Given the description of an element on the screen output the (x, y) to click on. 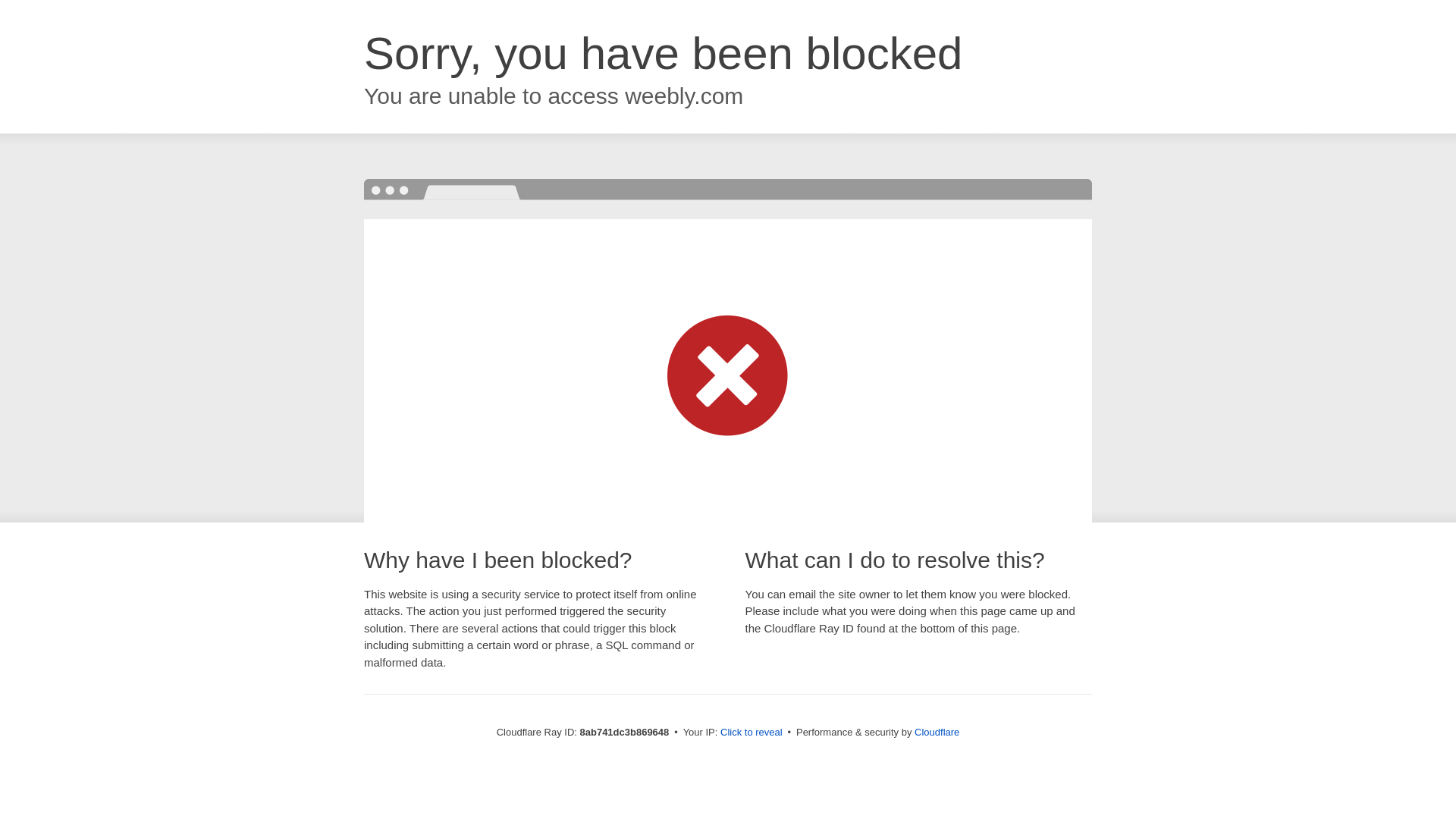
Click to reveal (751, 732)
Cloudflare (936, 731)
